Given the description of an element on the screen output the (x, y) to click on. 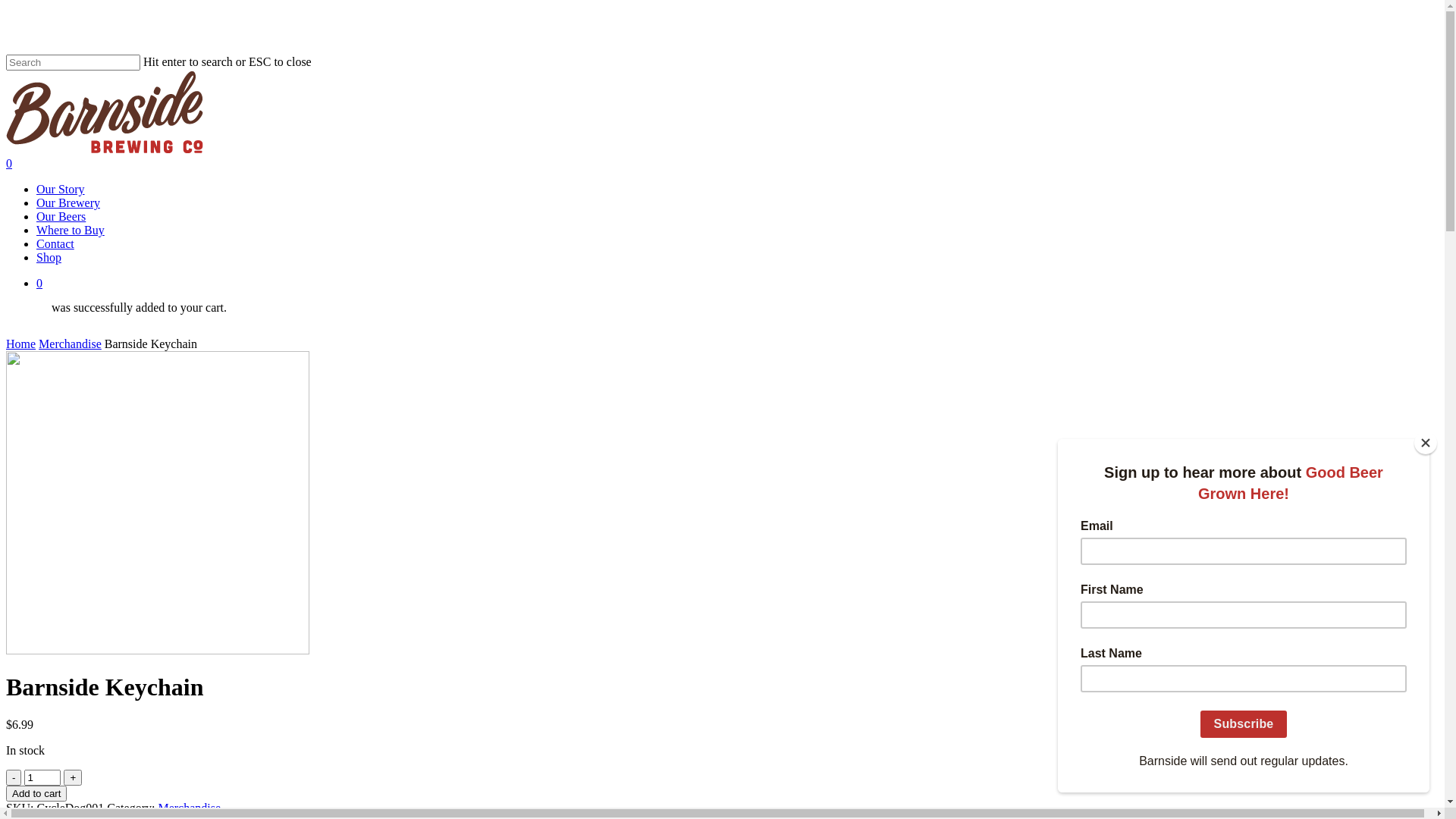
Merchandise Element type: text (69, 343)
0 Element type: text (728, 163)
Our Story Element type: text (60, 188)
Add to cart Element type: text (36, 793)
Skip to main content Element type: text (5, 5)
0 Element type: text (743, 283)
Where to Buy Element type: text (70, 229)
Contact Element type: text (55, 243)
Our Brewery Element type: text (68, 202)
Barnside Keychain Element type: hover (157, 502)
Our Beers Element type: text (60, 216)
Home Element type: text (20, 343)
Merchandise Element type: text (188, 807)
Shop Element type: text (48, 257)
